Given the description of an element on the screen output the (x, y) to click on. 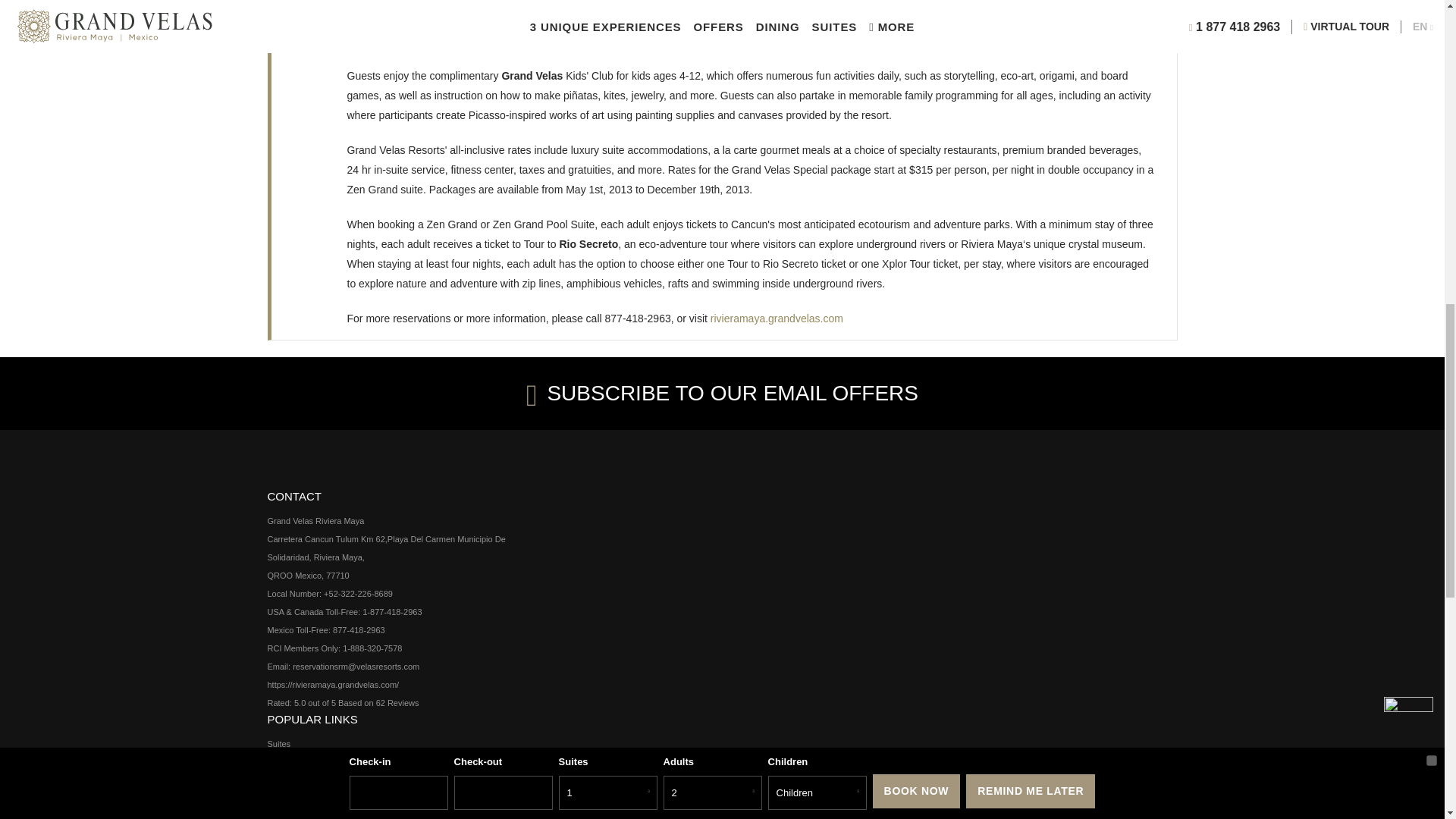
1-888-320-7578 (371, 647)
rivieramaya.grandvelas.com (776, 318)
1-877-418-2963 (392, 611)
SUBSCRIBE TO OUR EMAIL OFFERS (721, 392)
62 Reviews (397, 702)
877-418-2963 (359, 629)
